Given the description of an element on the screen output the (x, y) to click on. 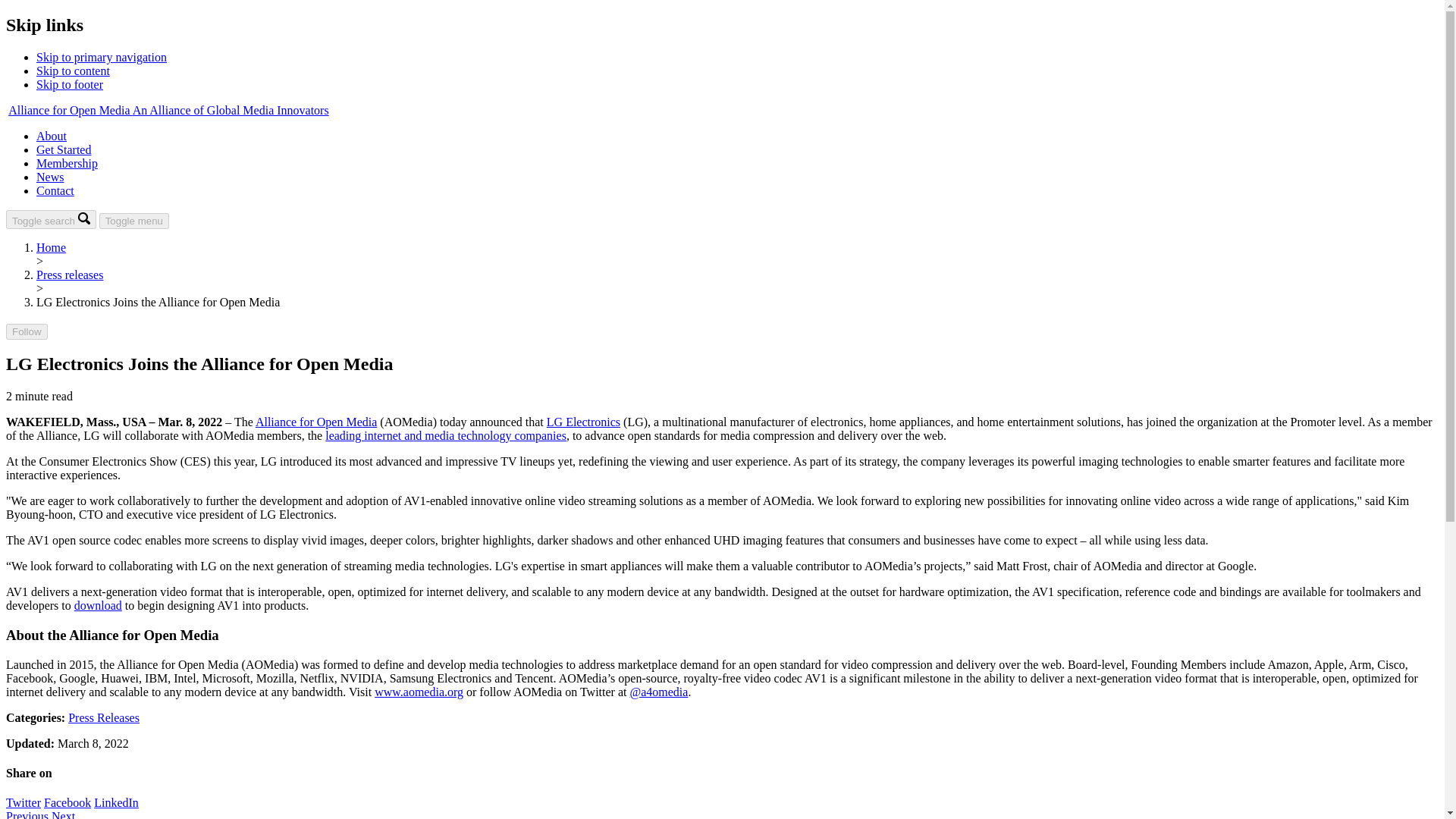
www.aomedia.org (418, 691)
download (98, 604)
LinkedIn (116, 802)
Follow (26, 331)
Share on LinkedIn (116, 802)
Press releases (69, 274)
Skip to primary navigation (101, 56)
Toggle menu (133, 220)
Toggle search (50, 219)
Next (62, 814)
Share on Twitter (62, 814)
Get Started (22, 802)
LG Electronics (63, 149)
